Given the description of an element on the screen output the (x, y) to click on. 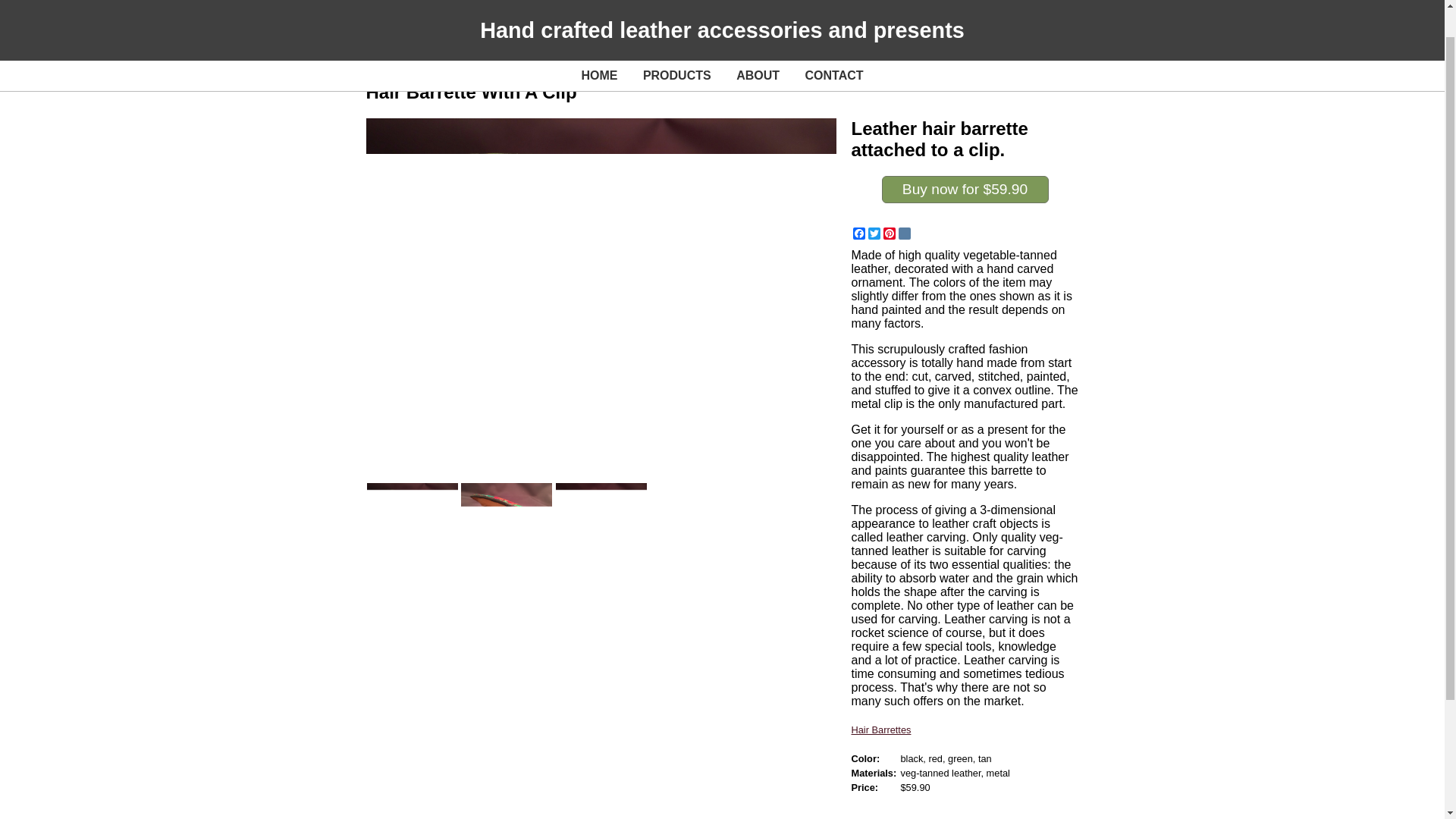
Facebook (858, 233)
Products (389, 721)
HOME (599, 43)
Home (381, 704)
About (381, 738)
Twitter (873, 233)
Pinterest (703, 710)
Share (621, 710)
ABOUT (758, 43)
Contact (386, 754)
